Given the description of an element on the screen output the (x, y) to click on. 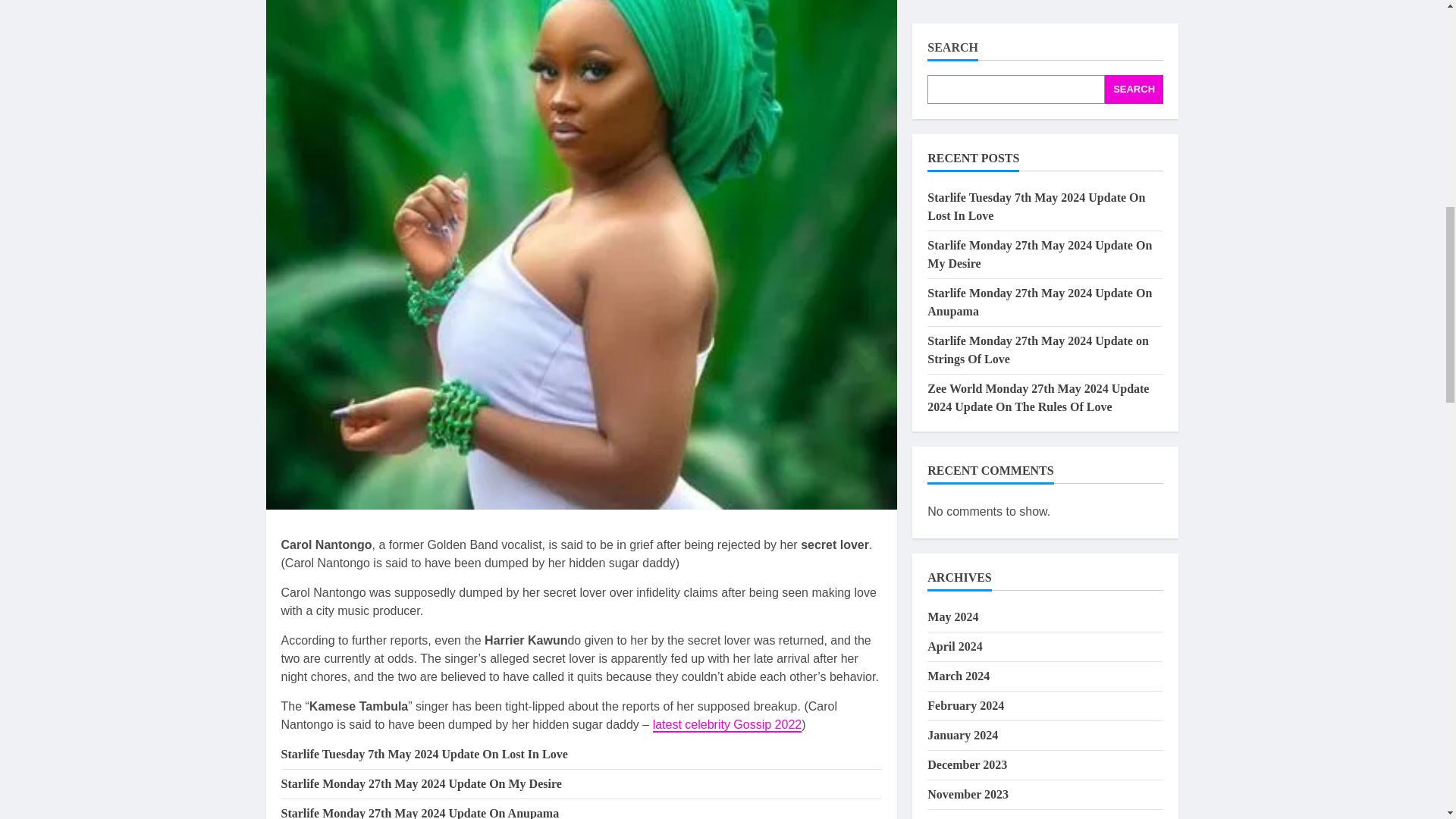
Starlife Monday 27th May 2024 Update On Anupama (420, 812)
Starlife Tuesday 7th May 2024 Update On Lost In Love (424, 753)
latest celebrity Gossip 2022 (727, 725)
Starlife Monday 27th May 2024 Update On My Desire (420, 783)
